Given the description of an element on the screen output the (x, y) to click on. 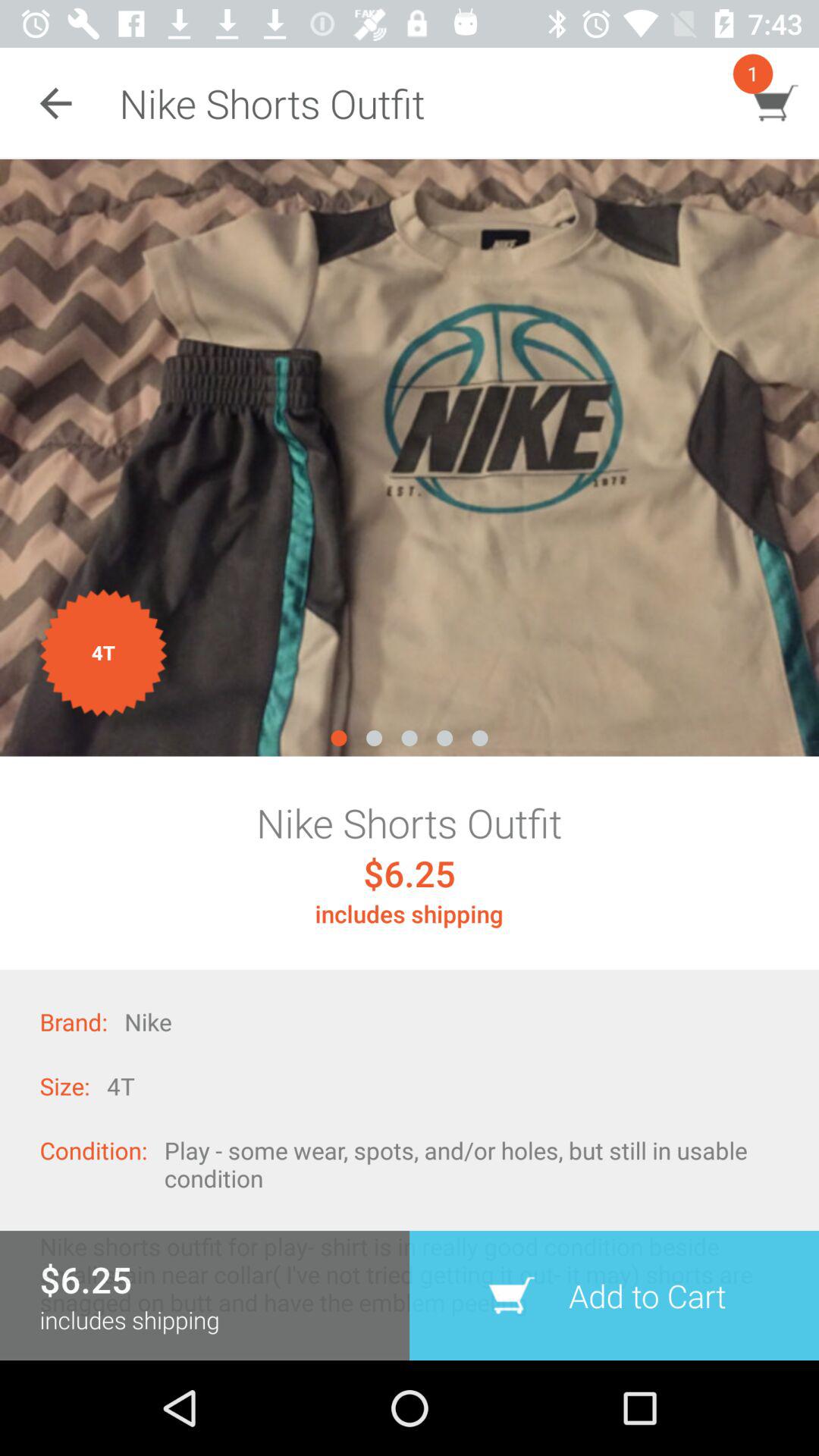
launch icon above the nike shorts outfit item (409, 457)
